Given the description of an element on the screen output the (x, y) to click on. 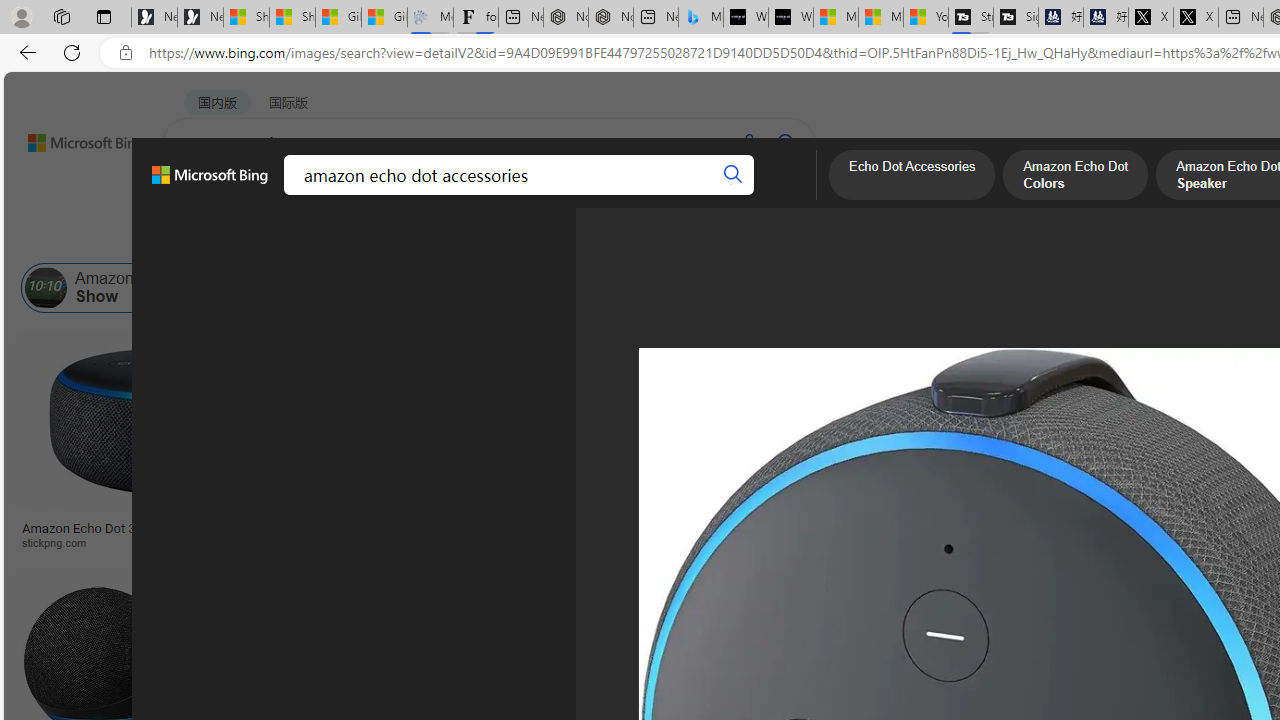
DICT (630, 195)
Layout (443, 237)
Amazon Echo 2nd Generation (1070, 287)
Microsoft Start Sports (835, 17)
Layout (443, 237)
Streaming Coverage | T3 (970, 17)
IMAGES (274, 195)
Amazon Echo Dot PNG transparente - StickPNG (615, 534)
Color (305, 237)
